Given the description of an element on the screen output the (x, y) to click on. 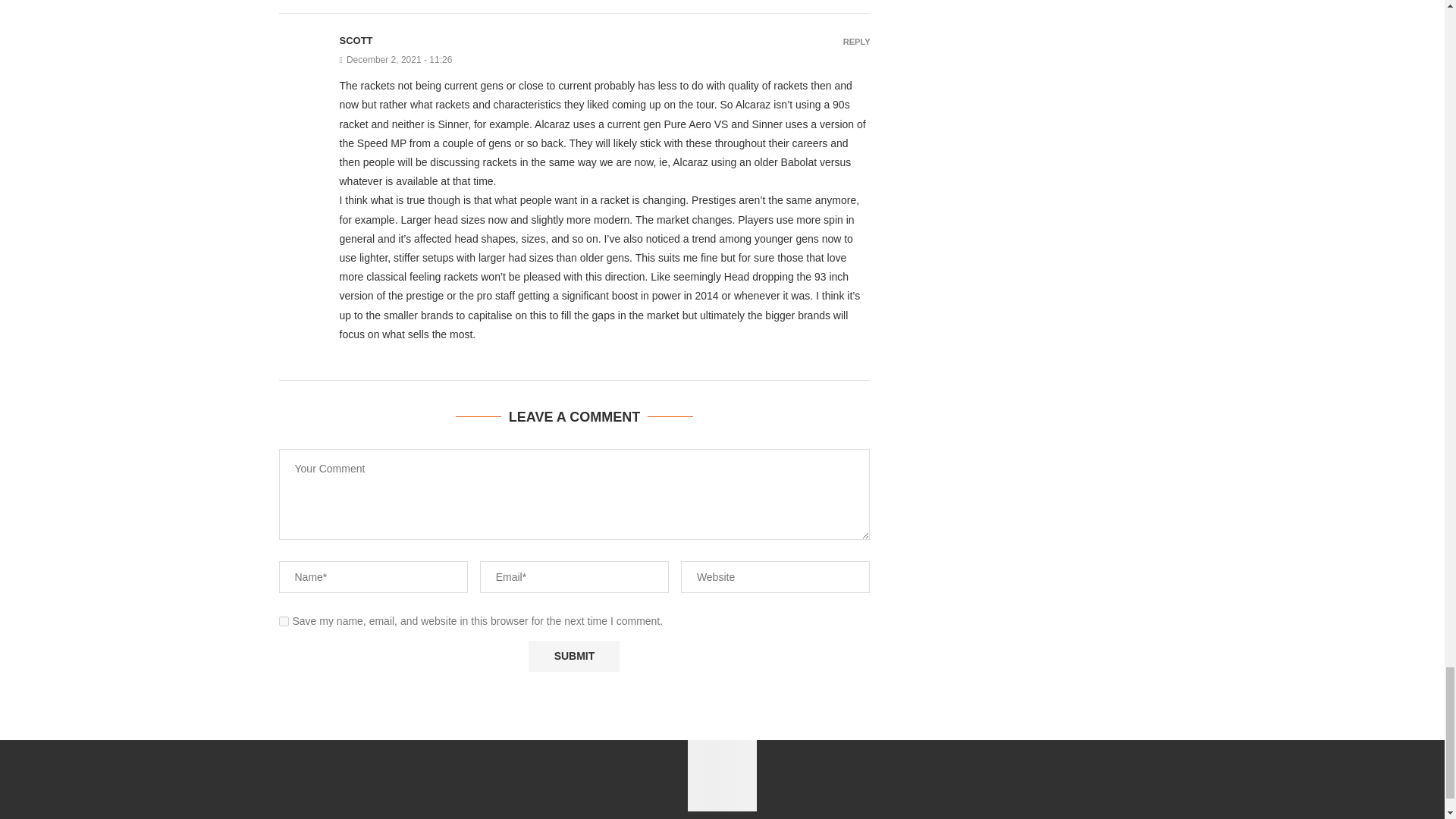
Thursday, December 2, 2021, 11:26 am (604, 59)
Submit (574, 655)
yes (283, 621)
